Given the description of an element on the screen output the (x, y) to click on. 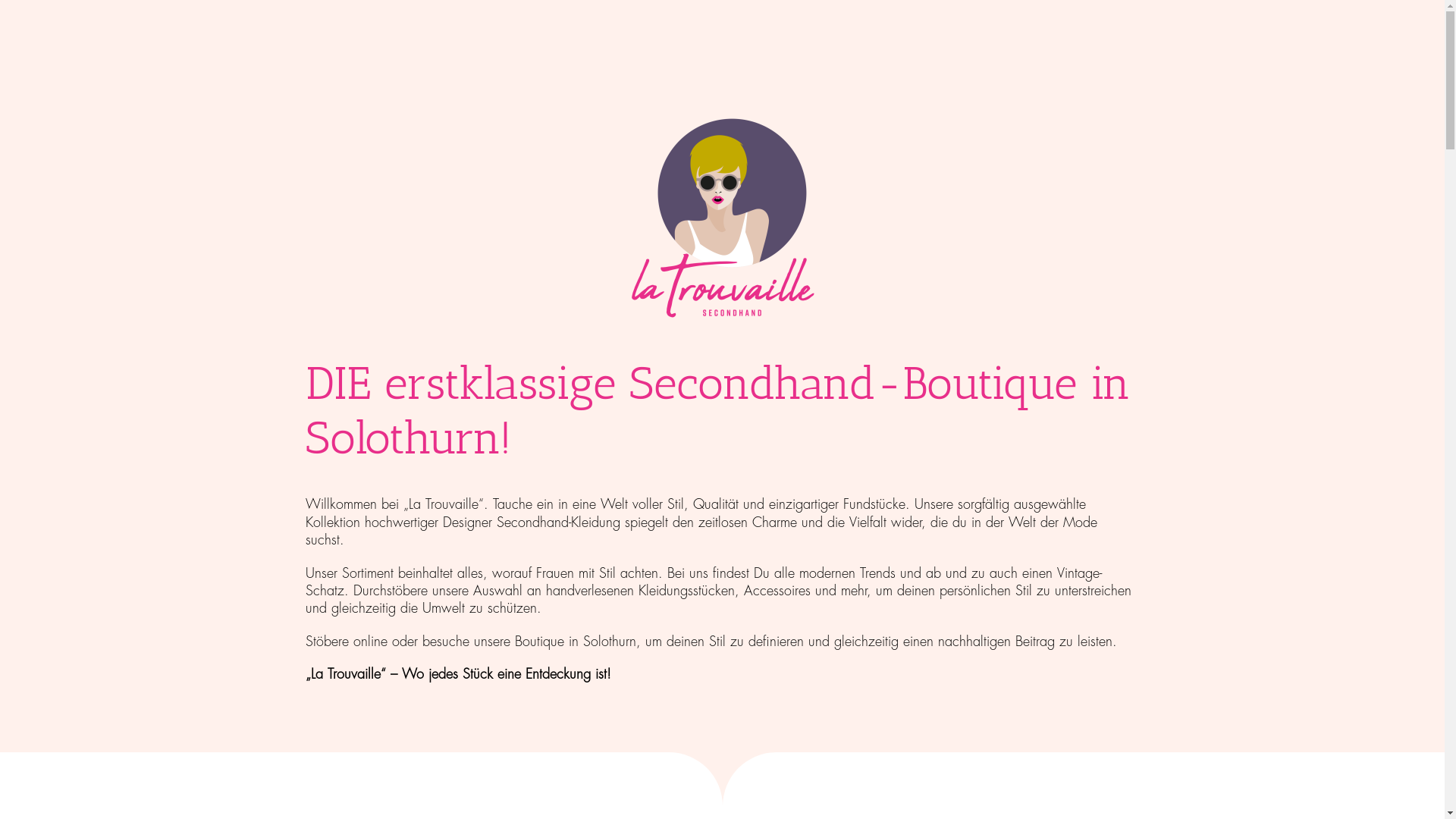
LaTrouvaille_2ndhand Element type: hover (721, 219)
